Given the description of an element on the screen output the (x, y) to click on. 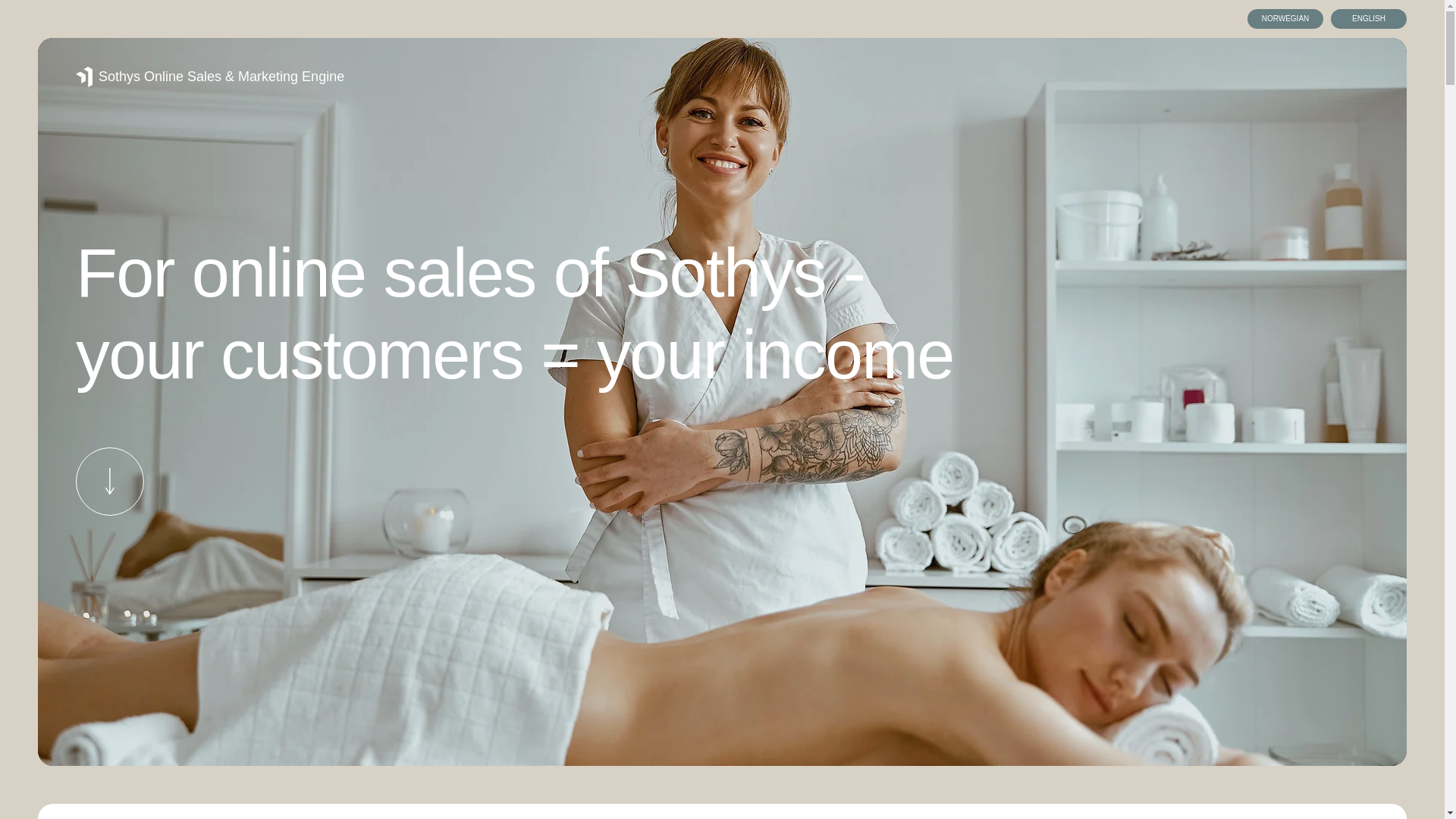
ENGLISH (1368, 18)
NORWEGIAN (1285, 18)
